Given the description of an element on the screen output the (x, y) to click on. 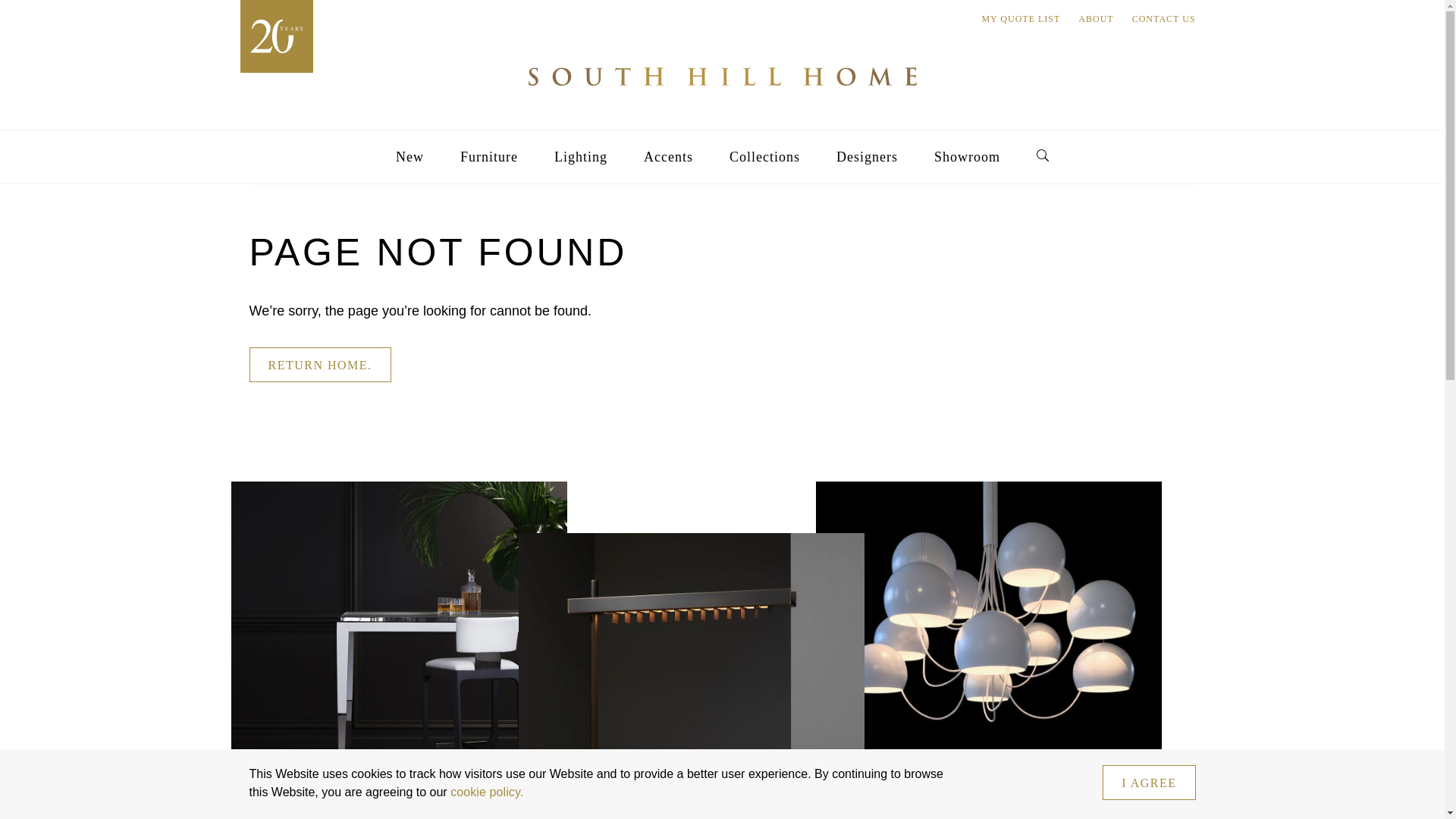
MY QUOTE LIST (1020, 18)
CONTACT US (1163, 18)
Furniture (489, 156)
Venicem Desk Lamp Vcm Massimo Tonetto Lighting 2 image (691, 676)
ABOUT (1095, 18)
Powell Bonnell Console Table Cabaret 9416 Furniture 2 image (394, 650)
